Given the description of an element on the screen output the (x, y) to click on. 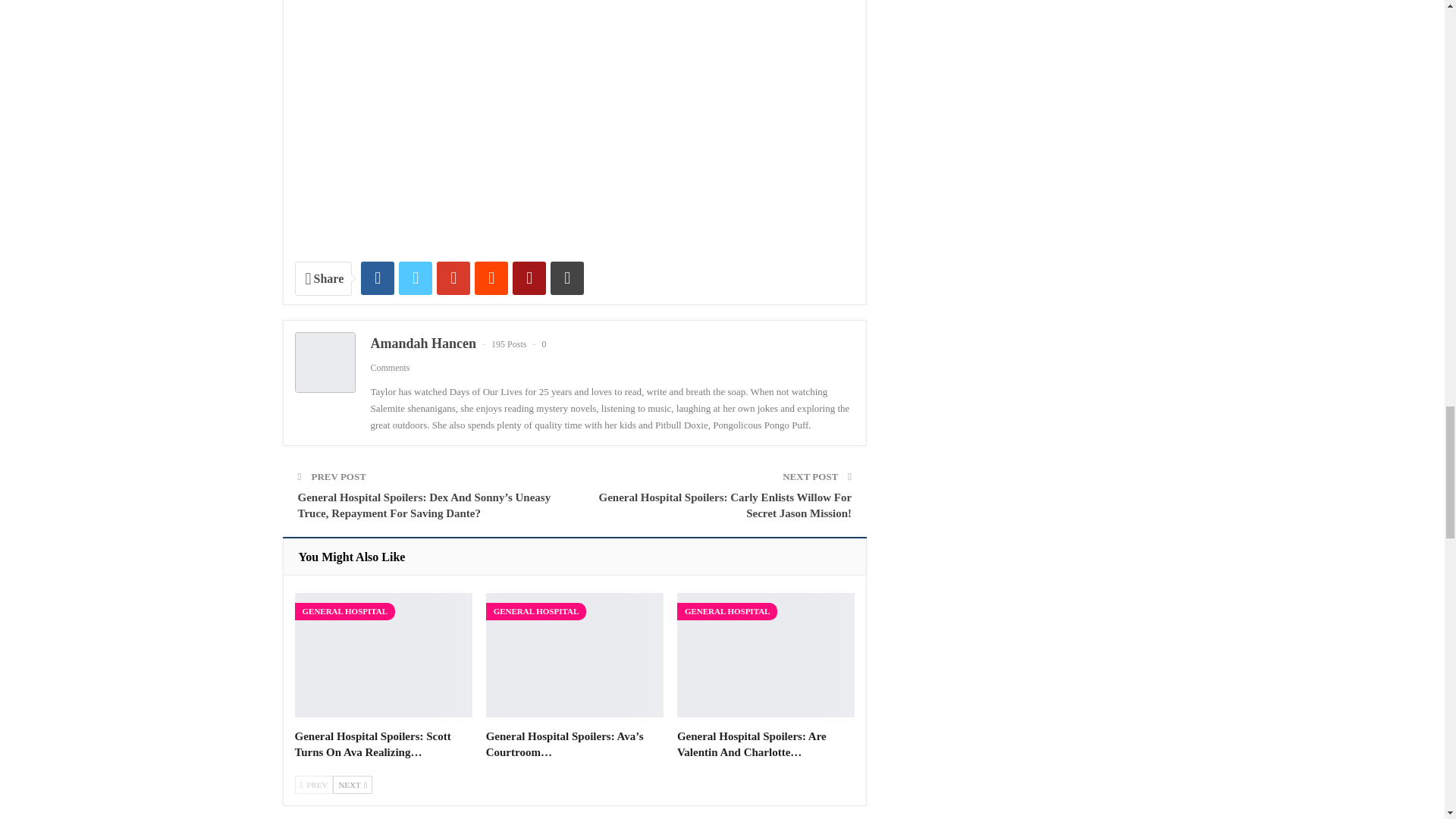
Previous (313, 784)
Amandah Hancen (422, 343)
Next (352, 784)
